Given the description of an element on the screen output the (x, y) to click on. 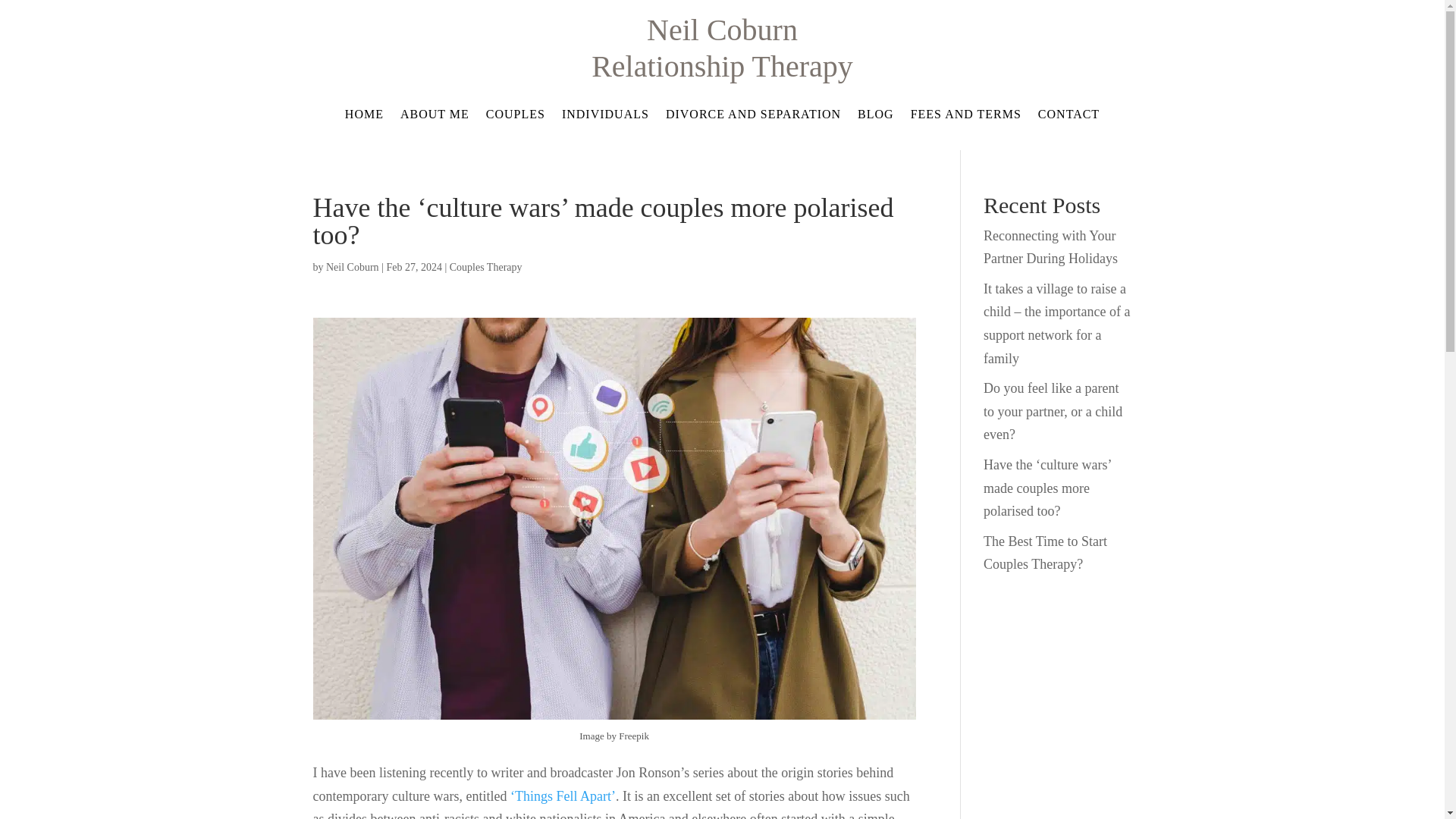
CONTACT (1068, 117)
DIVORCE AND SEPARATION (753, 117)
BLOG (875, 117)
Couples Therapy (485, 266)
Neil Coburn (352, 266)
FEES AND TERMS (966, 117)
INDIVIDUALS (605, 117)
HOME (364, 117)
COUPLES (515, 117)
Do you feel like a parent to your partner, or a child even? (1053, 411)
